Given the description of an element on the screen output the (x, y) to click on. 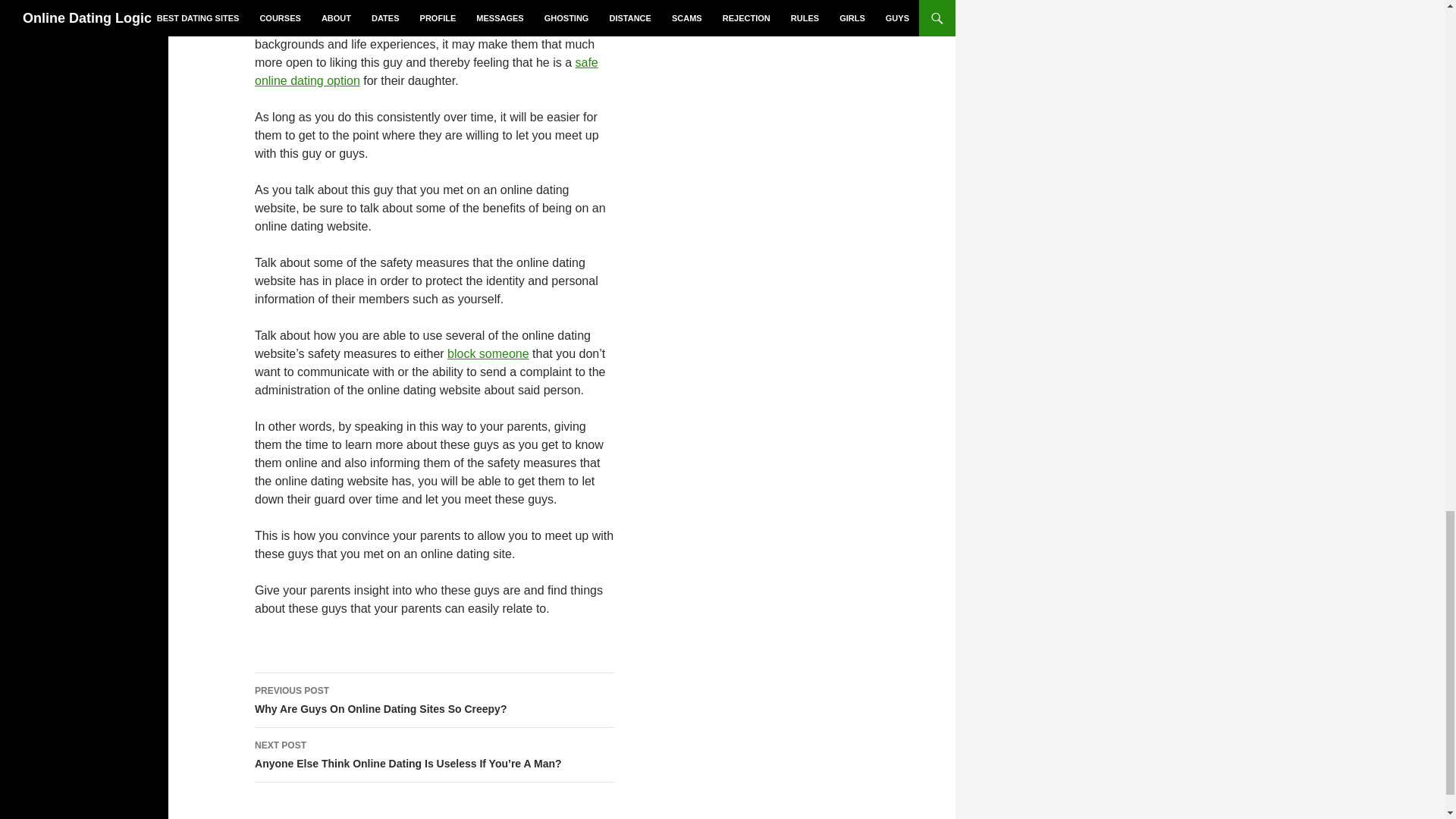
safe online dating option (434, 700)
block someone (426, 71)
